Given the description of an element on the screen output the (x, y) to click on. 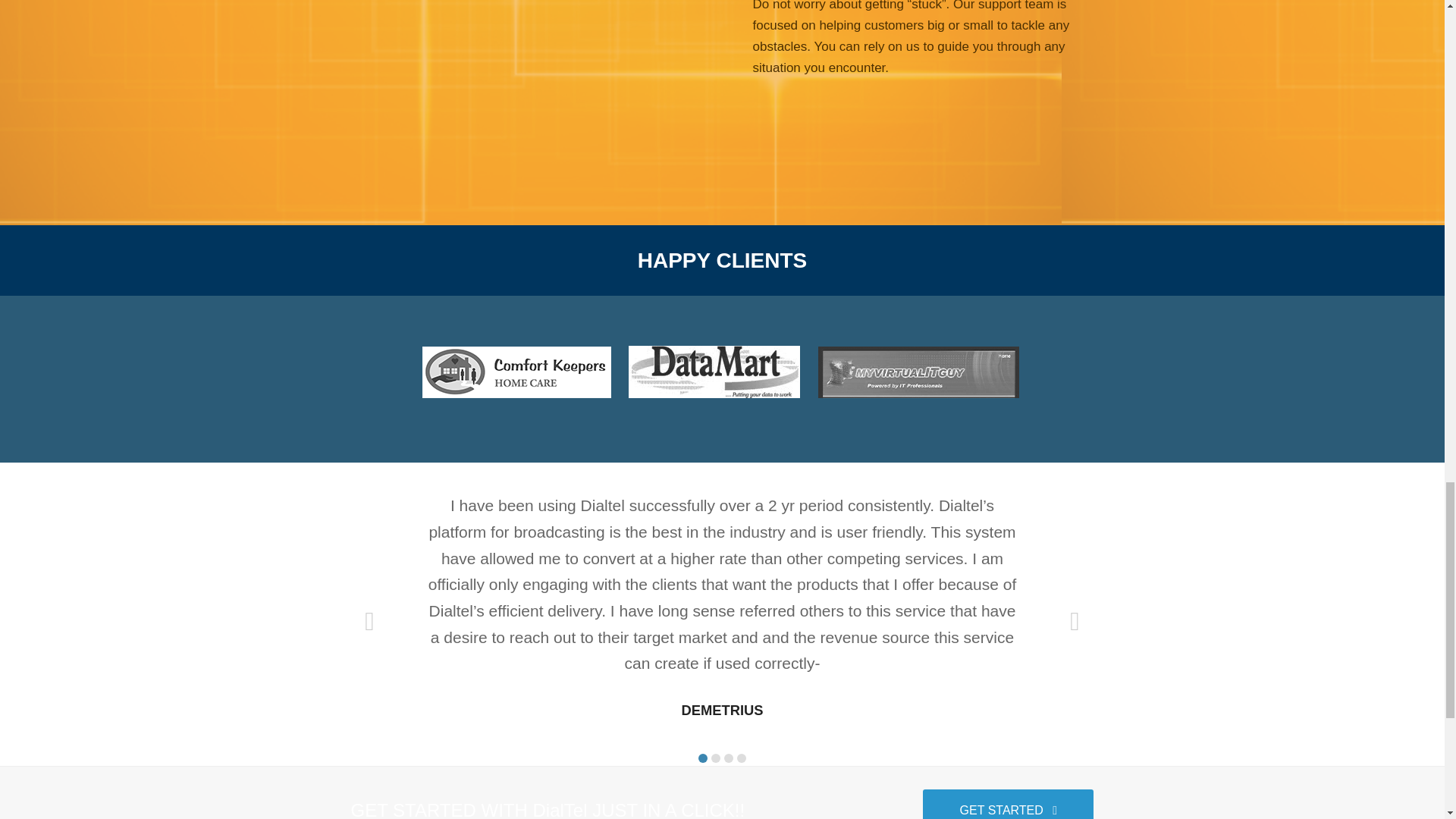
GET STARTED (1008, 804)
GET STARTED (1008, 804)
